Given the description of an element on the screen output the (x, y) to click on. 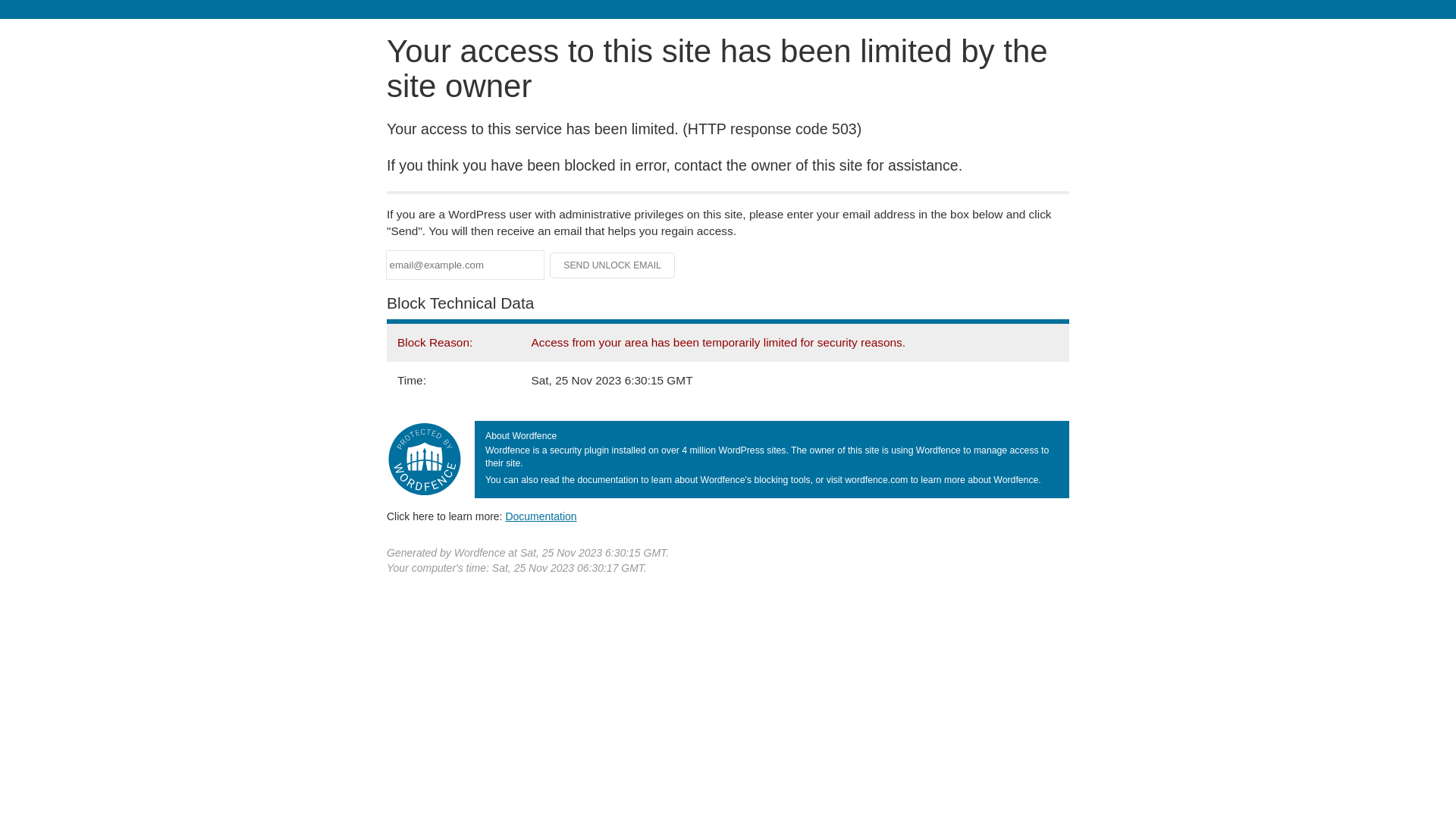
Documentation Element type: text (540, 516)
Send Unlock Email Element type: text (612, 265)
